Given the description of an element on the screen output the (x, y) to click on. 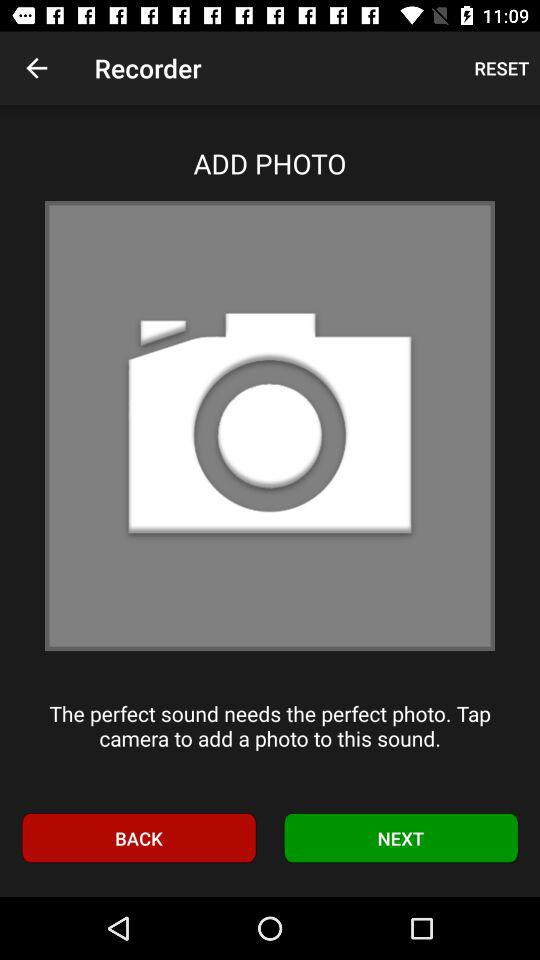
open the item next to next icon (138, 838)
